Given the description of an element on the screen output the (x, y) to click on. 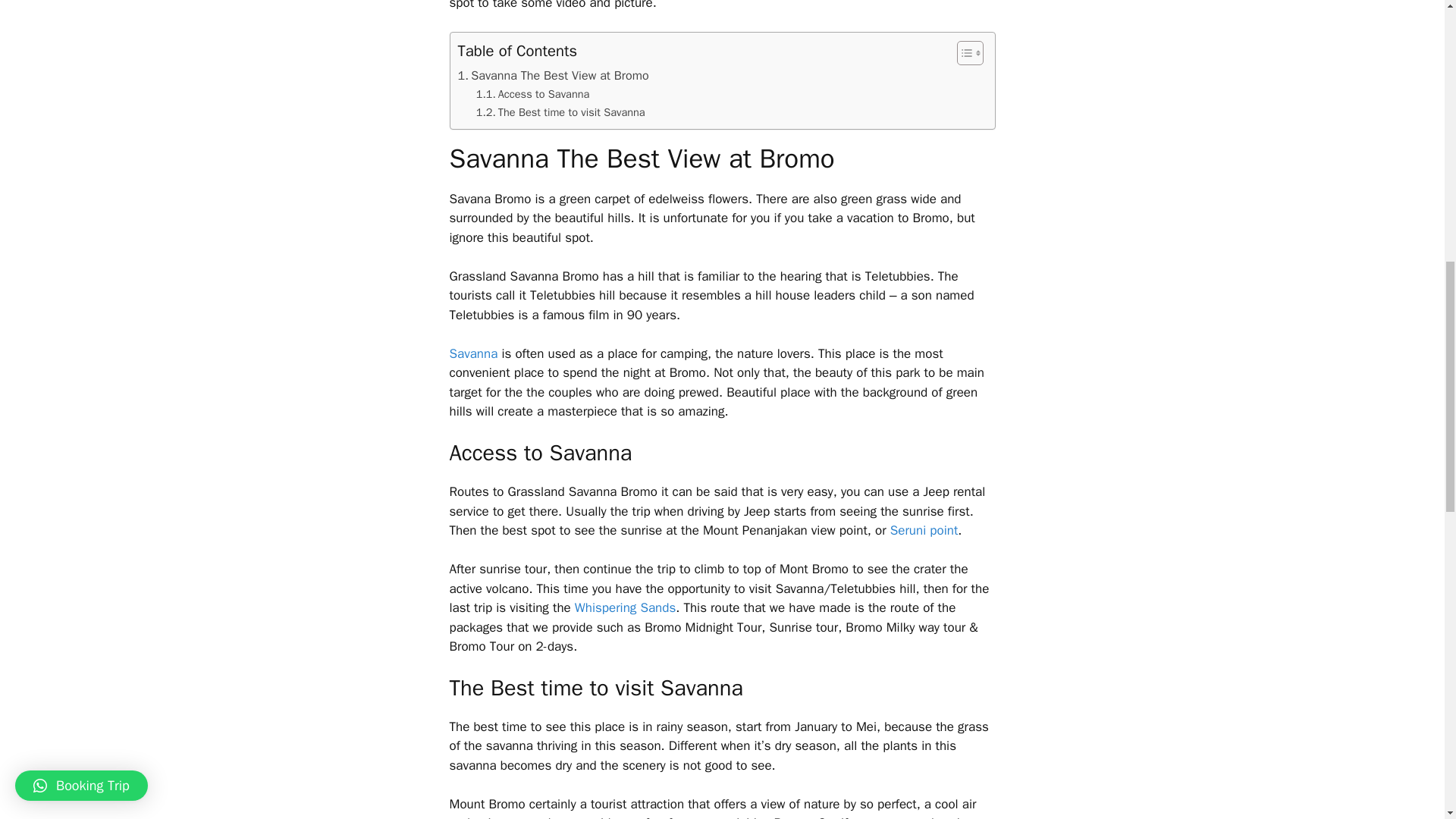
Seruni point (923, 530)
Whispering Sands (625, 607)
Access to Savanna (532, 94)
Savanna (472, 353)
Savanna The Best View at Bromo (553, 75)
The Best time to visit Savanna (560, 112)
Access to Savanna (532, 94)
Scroll back to top (1406, 720)
The Best time to visit Savanna (560, 112)
Savanna The Best View at Bromo (553, 75)
